Given the description of an element on the screen output the (x, y) to click on. 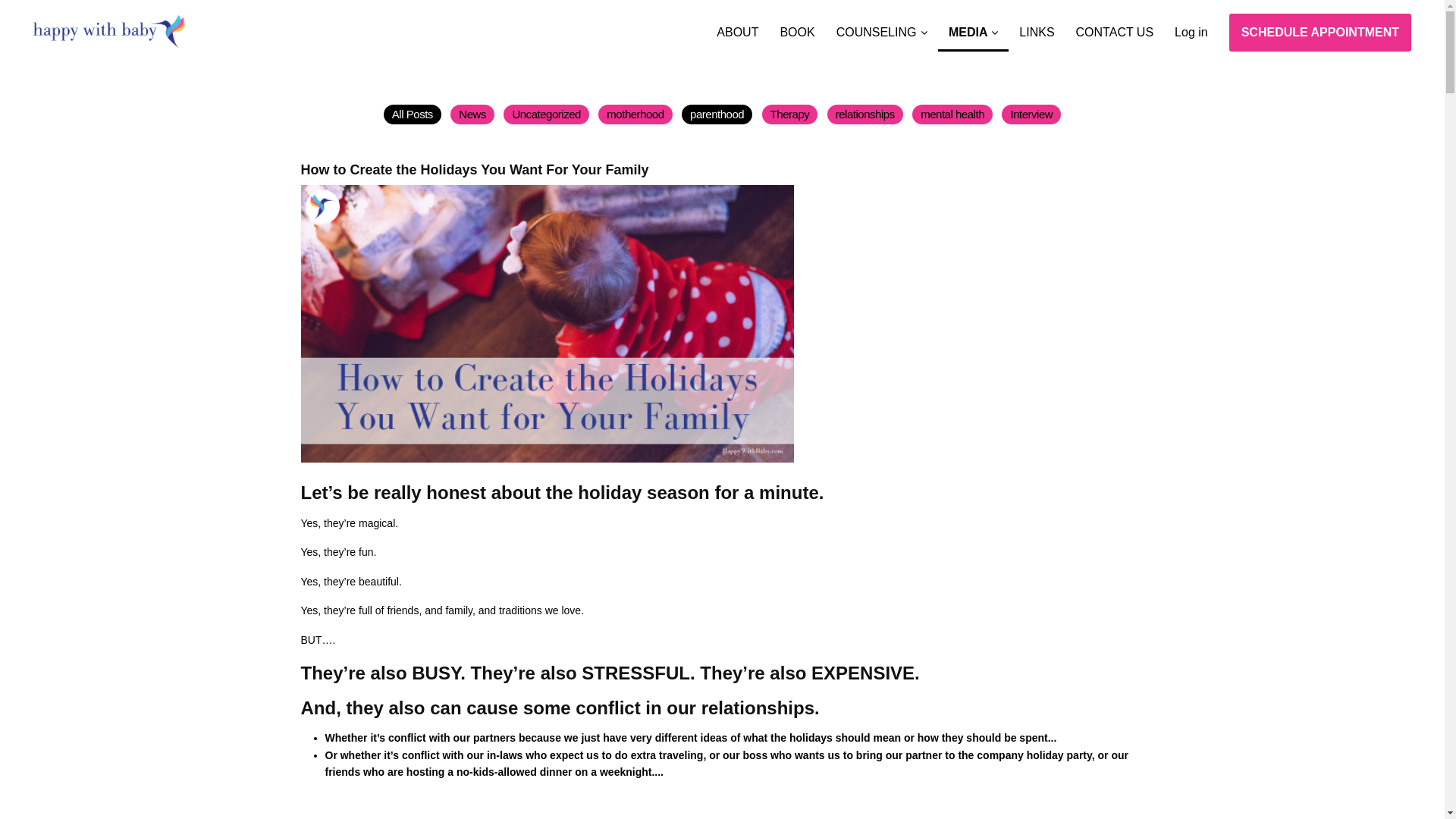
ABOUT (737, 25)
Interview (1031, 114)
relationships (864, 114)
CONTACT US (1114, 25)
mental health (952, 114)
BOOK (796, 25)
LINKS (1036, 25)
SCHEDULE APPOINTMENT (1319, 32)
MEDIA (973, 25)
Log in (1190, 25)
motherhood (634, 114)
parenthood (716, 114)
Uncategorized (545, 114)
COUNSELING (881, 25)
Therapy (789, 114)
